Given the description of an element on the screen output the (x, y) to click on. 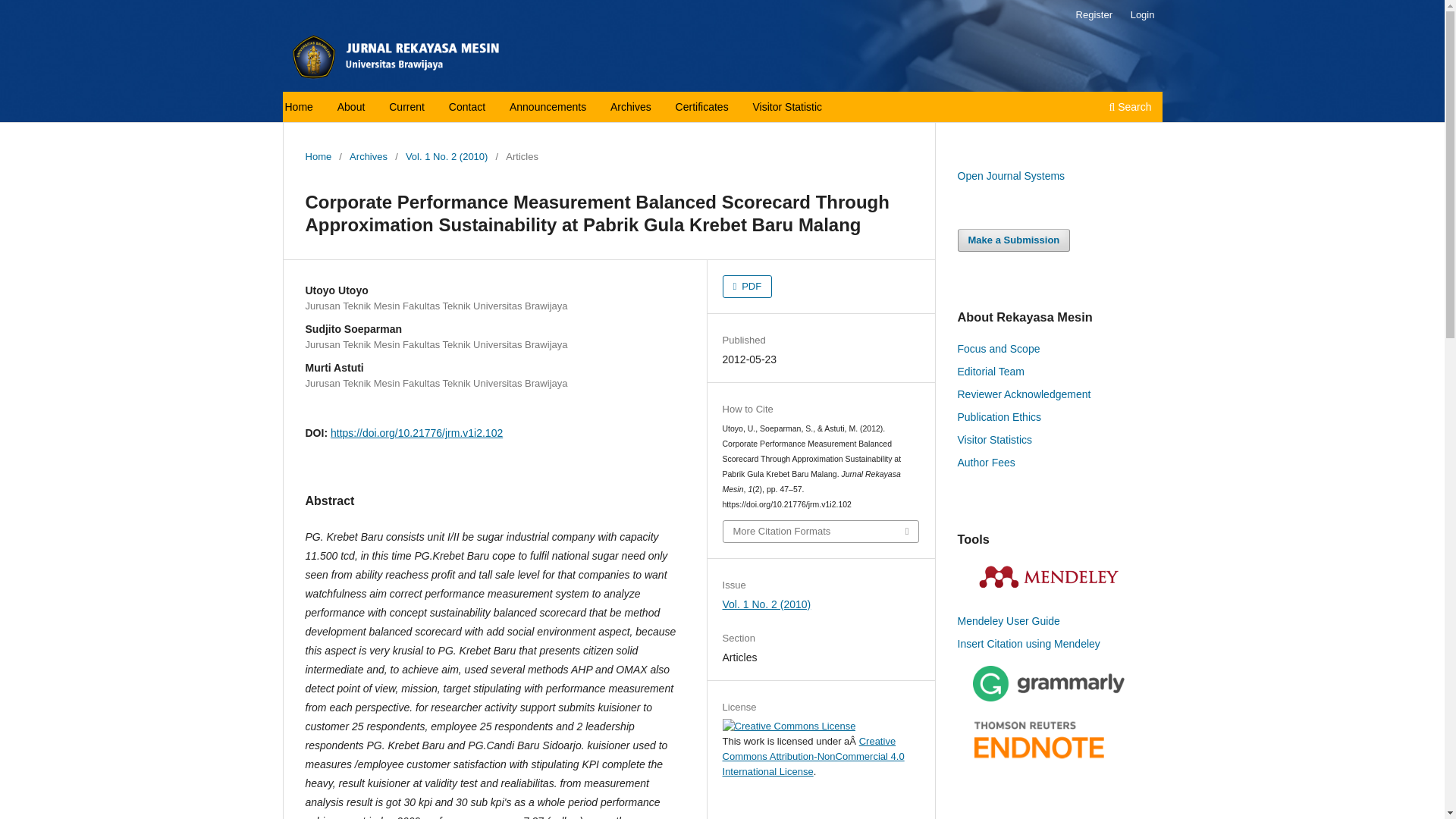
More Citation Formats (820, 531)
Home (317, 156)
Login (1141, 15)
Archives (368, 156)
Open Journal Systems (1010, 175)
Search (1129, 108)
Certificates (702, 106)
Contact (466, 106)
Visitor Statistic (787, 106)
Archives (630, 106)
